Given the description of an element on the screen output the (x, y) to click on. 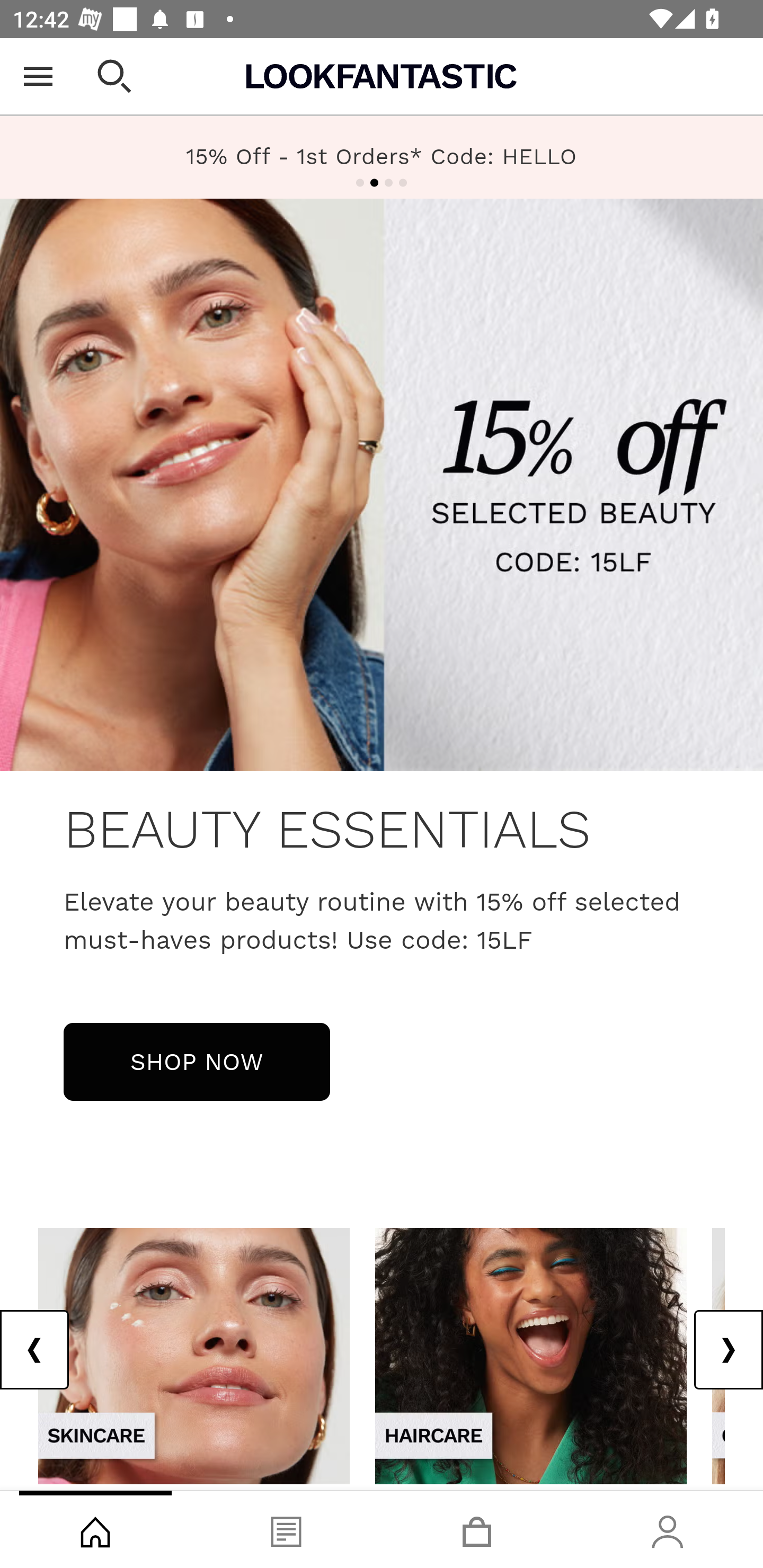
Open Menu (38, 75)
Open search (114, 75)
Lookfantastic USA (381, 75)
SHOP NOW (196, 1061)
view-all (193, 1355)
view-all (530, 1355)
Previous (35, 1349)
Next (727, 1349)
Shop, tab, 1 of 4 (95, 1529)
Blog, tab, 2 of 4 (285, 1529)
Basket, tab, 3 of 4 (476, 1529)
Account, tab, 4 of 4 (667, 1529)
